Given the description of an element on the screen output the (x, y) to click on. 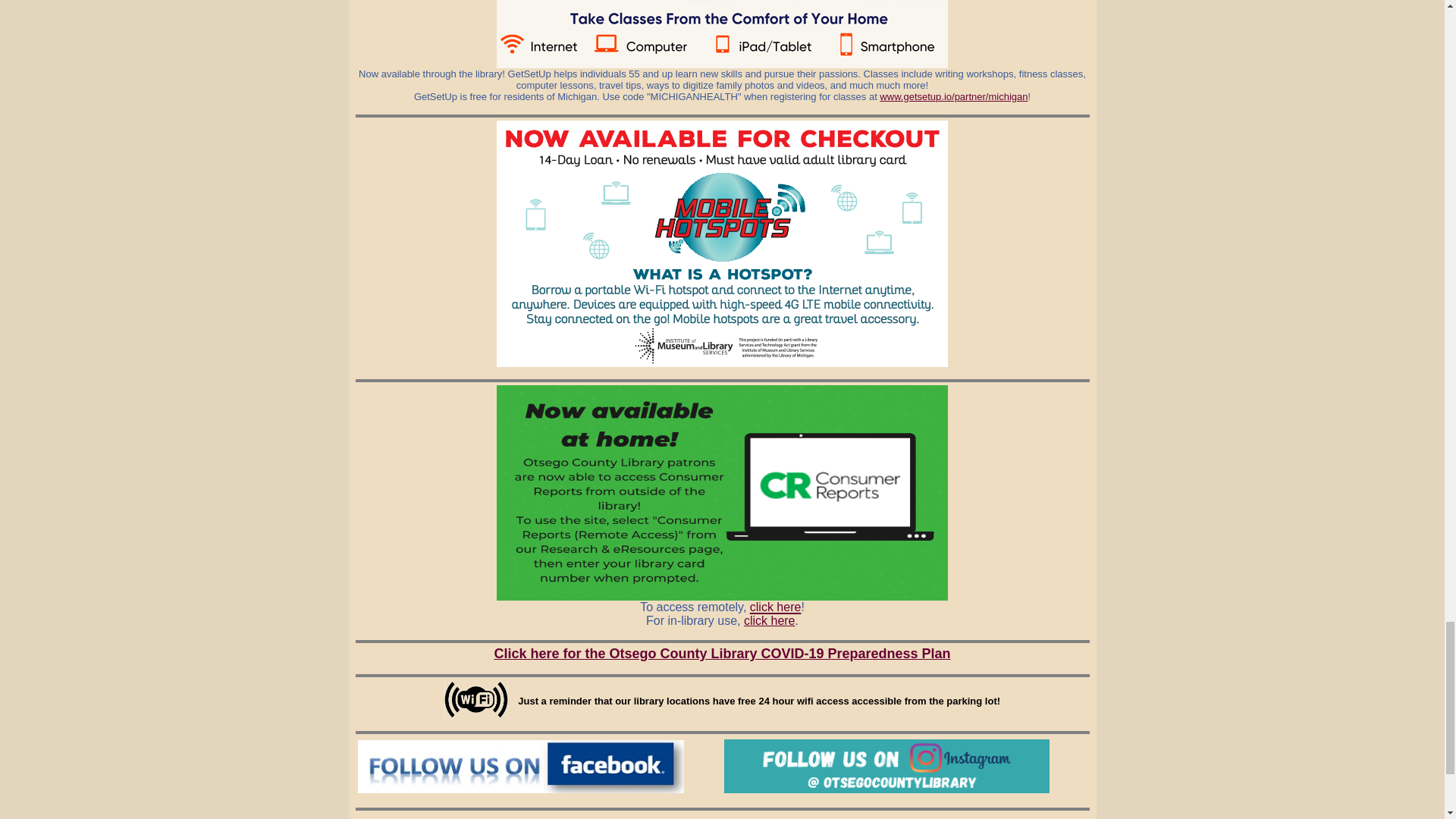
click here (769, 620)
click here (775, 604)
